Given the description of an element on the screen output the (x, y) to click on. 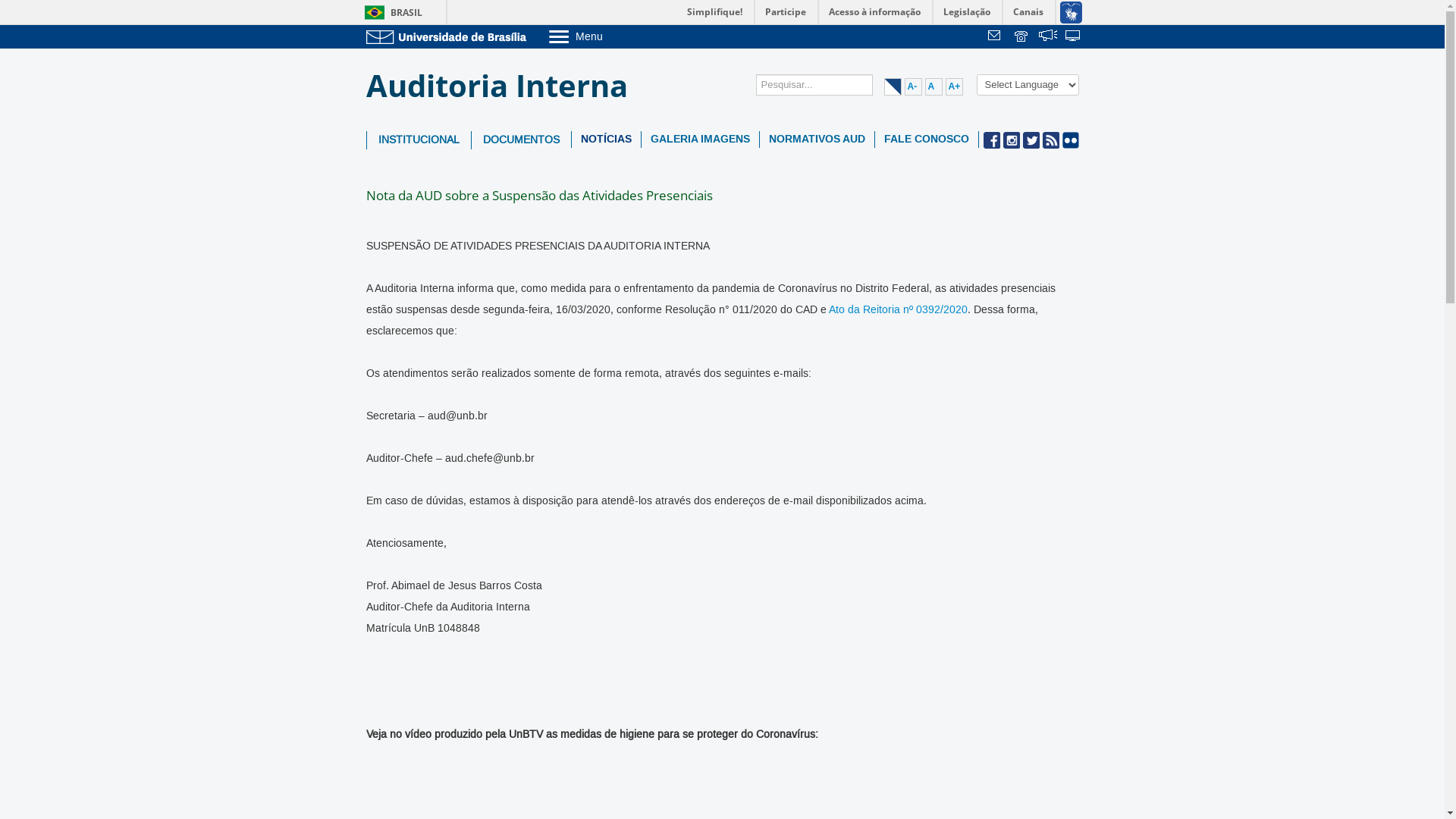
  Element type: text (1073, 37)
A- Element type: text (912, 86)
Webmail Element type: hover (996, 37)
A Element type: text (933, 86)
Fala.BR Element type: hover (1047, 37)
  Element type: text (1022, 37)
  Element type: text (1047, 37)
FALE CONOSCO Element type: text (926, 139)
NORMATIVOS AUD Element type: text (816, 139)
Sistemas Element type: hover (1073, 37)
  Element type: text (996, 37)
Menu Element type: text (613, 35)
BRASIL Element type: text (389, 12)
A+ Element type: text (953, 86)
GALERIA IMAGENS Element type: text (700, 139)
Ir para o Portal da UnB Element type: hover (448, 36)
Telefones da UnB Element type: hover (1022, 37)
Auditoria Interna Element type: text (501, 85)
